Given the description of an element on the screen output the (x, y) to click on. 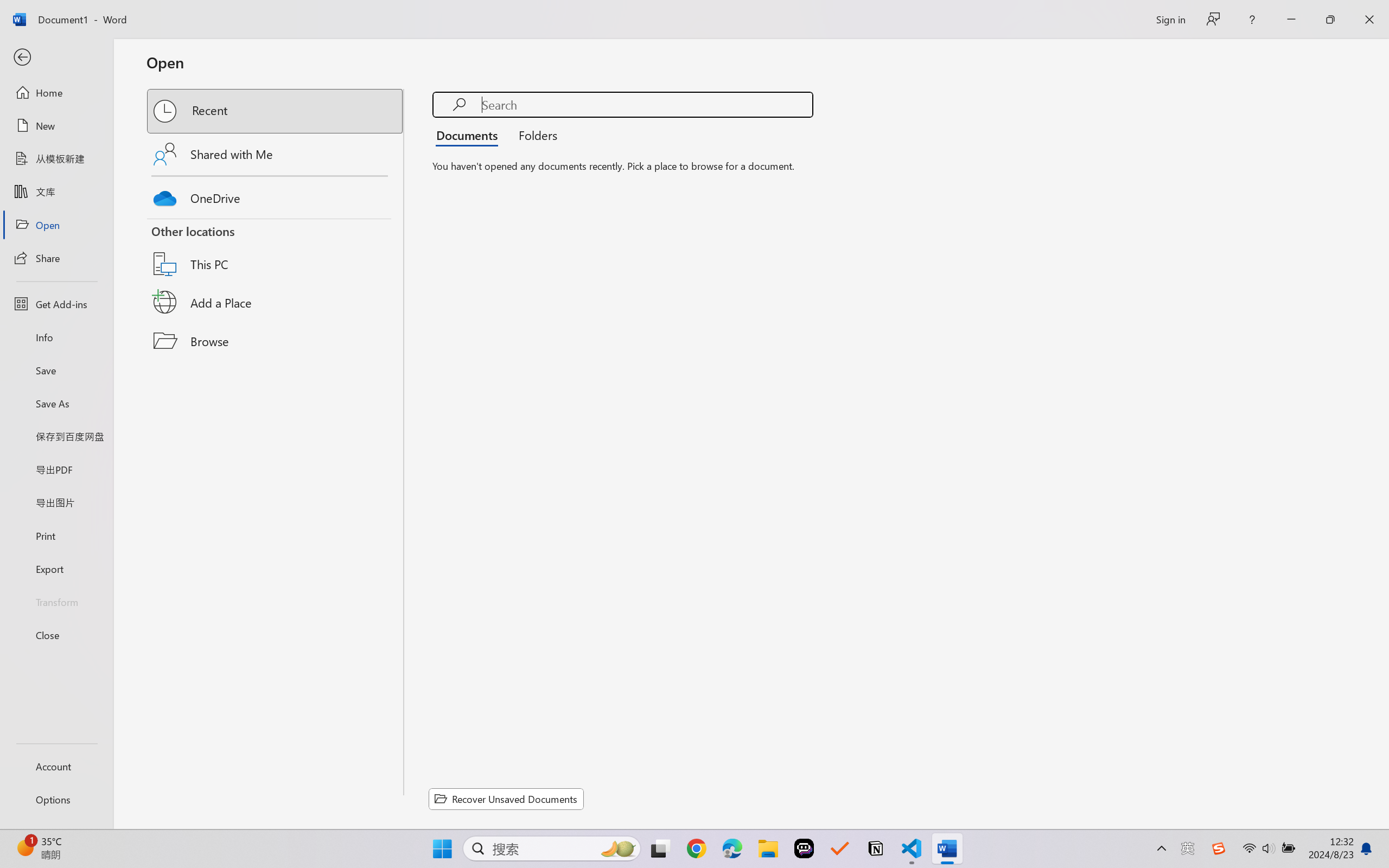
Transform (56, 601)
Export (56, 568)
Browse (275, 340)
Recent (275, 110)
Options (56, 798)
Recover Unsaved Documents (506, 798)
Save As (56, 403)
Add a Place (275, 302)
